Given the description of an element on the screen output the (x, y) to click on. 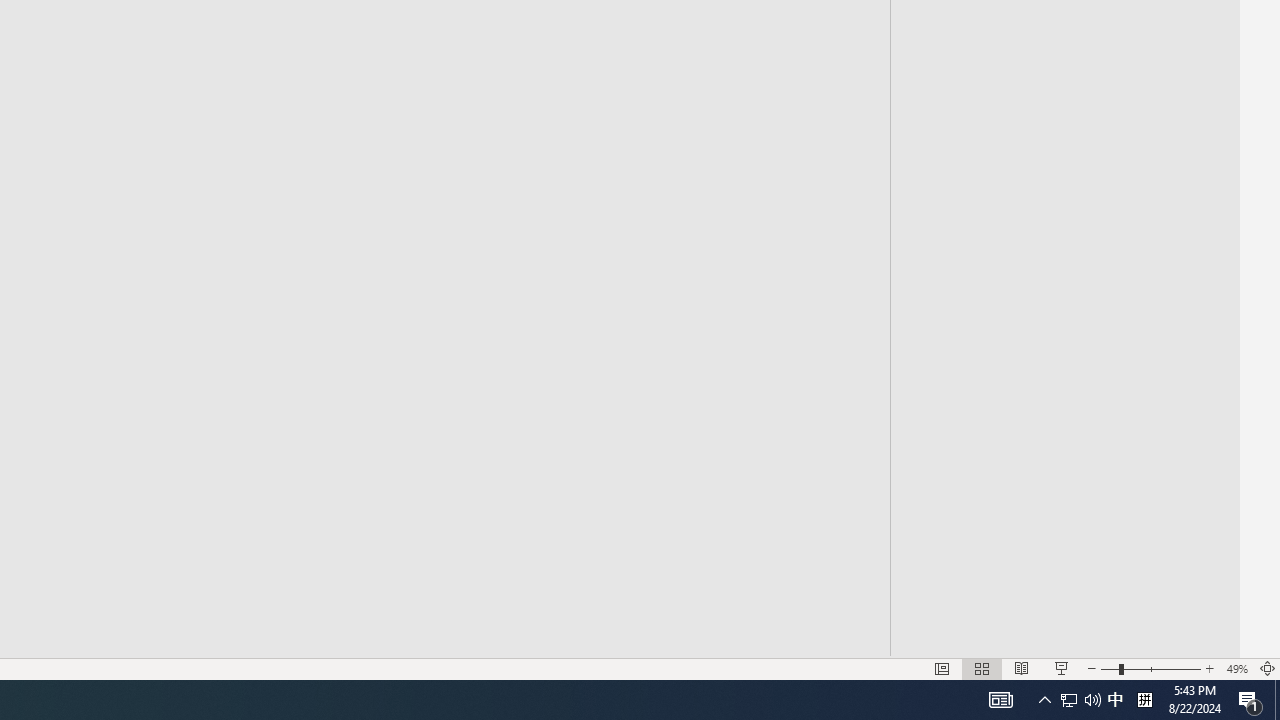
Zoom 49% (1236, 668)
